Given the description of an element on the screen output the (x, y) to click on. 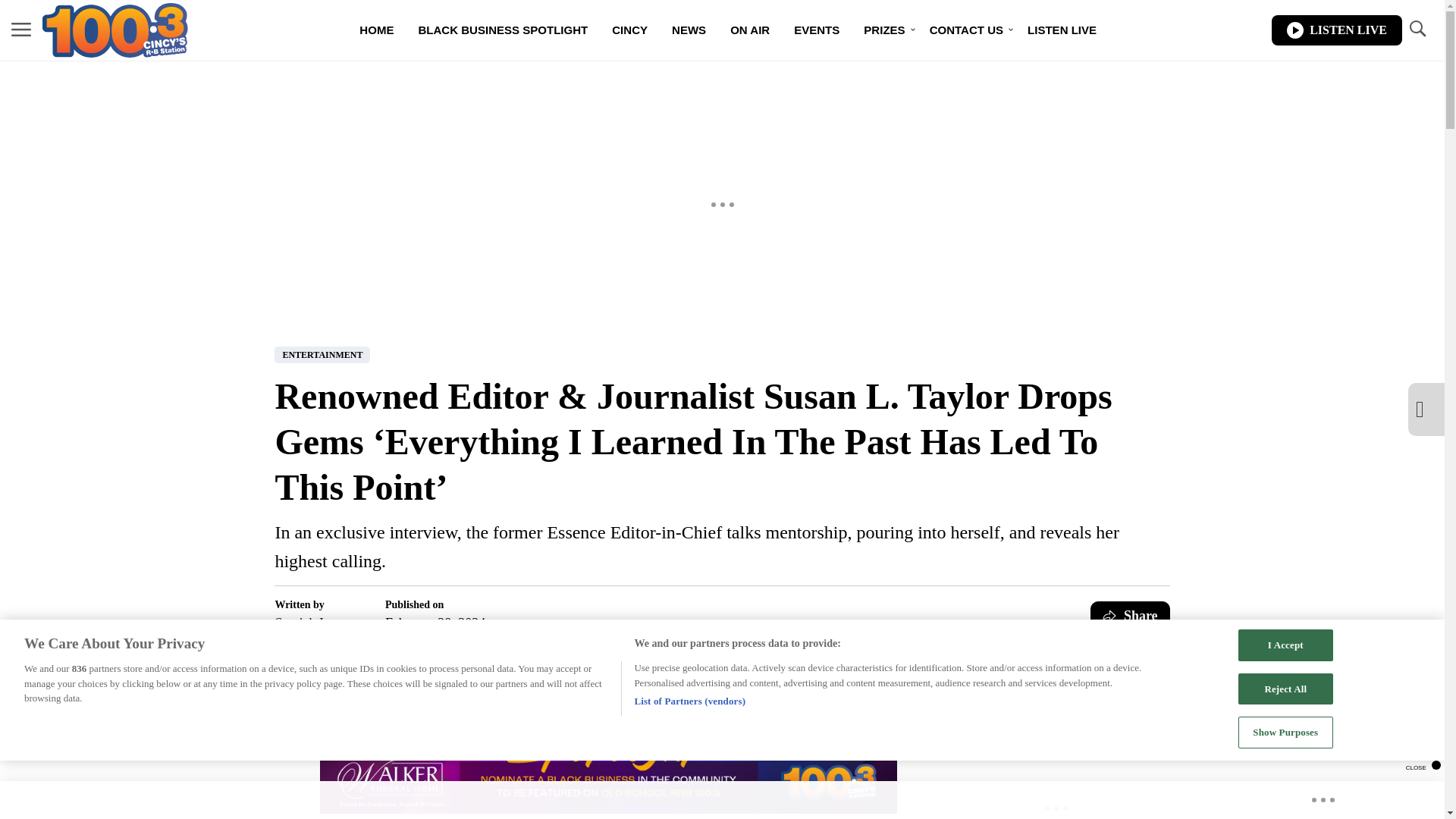
CINCY (629, 30)
PRIZES (884, 30)
EVENTS (816, 30)
CONTACT US (965, 30)
ON AIR (749, 30)
LISTEN LIVE (1336, 30)
TOGGLE SEARCH (1417, 28)
MENU (20, 30)
Share (1130, 615)
BLACK BUSINESS SPOTLIGHT (502, 30)
LISTEN LIVE (1061, 30)
NEWS (688, 30)
MENU (20, 29)
HOME (376, 30)
TOGGLE SEARCH (1417, 30)
